Given the description of an element on the screen output the (x, y) to click on. 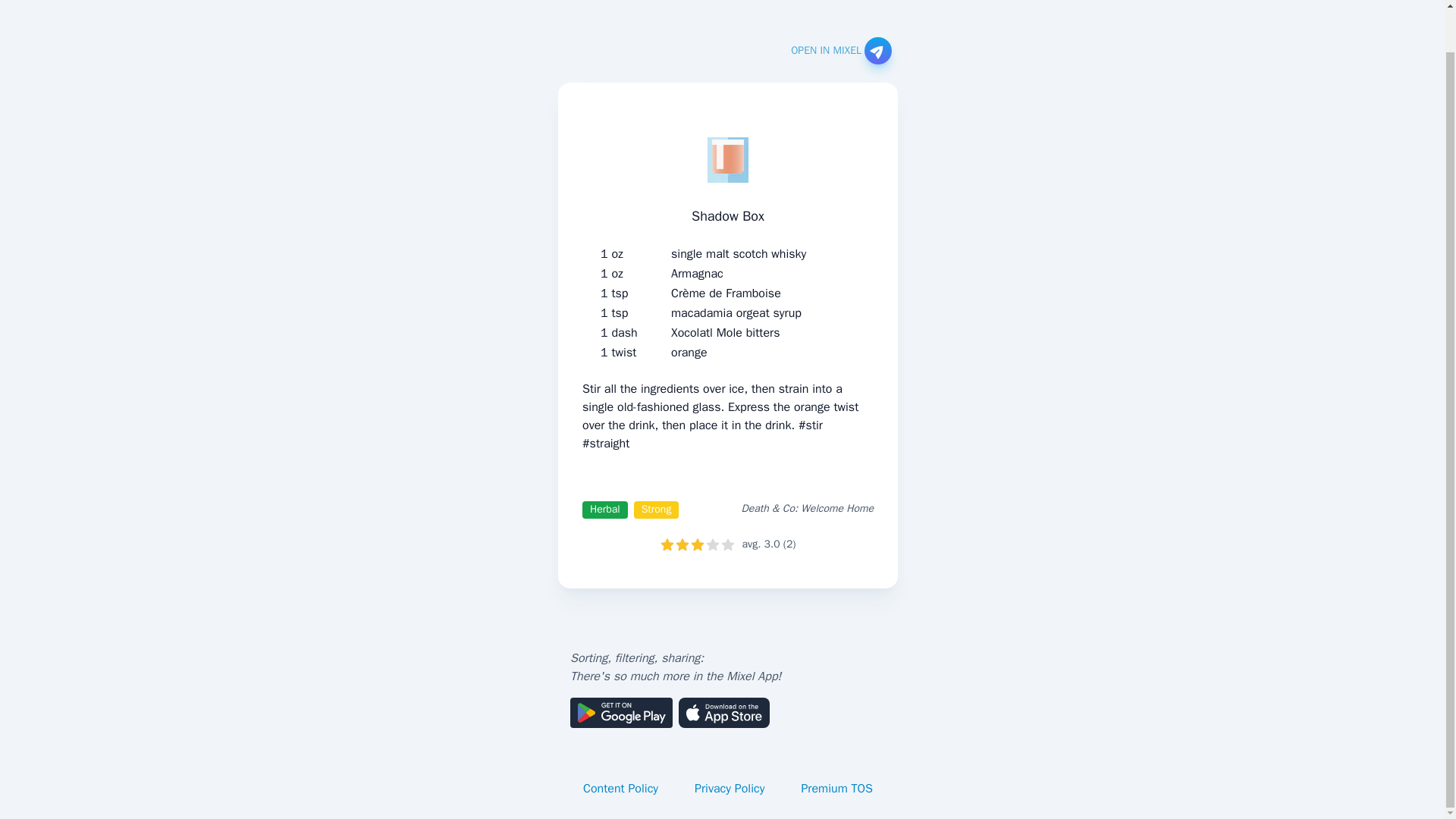
single malt scotch whisky (738, 253)
Privacy Policy (729, 788)
Armagnac (697, 273)
Content Policy (620, 788)
Premium TOS (836, 788)
Xocolatl Mole bitters (724, 332)
macadamia orgeat syrup (736, 312)
orange (689, 352)
OPEN IN MIXEL (840, 50)
